Given the description of an element on the screen output the (x, y) to click on. 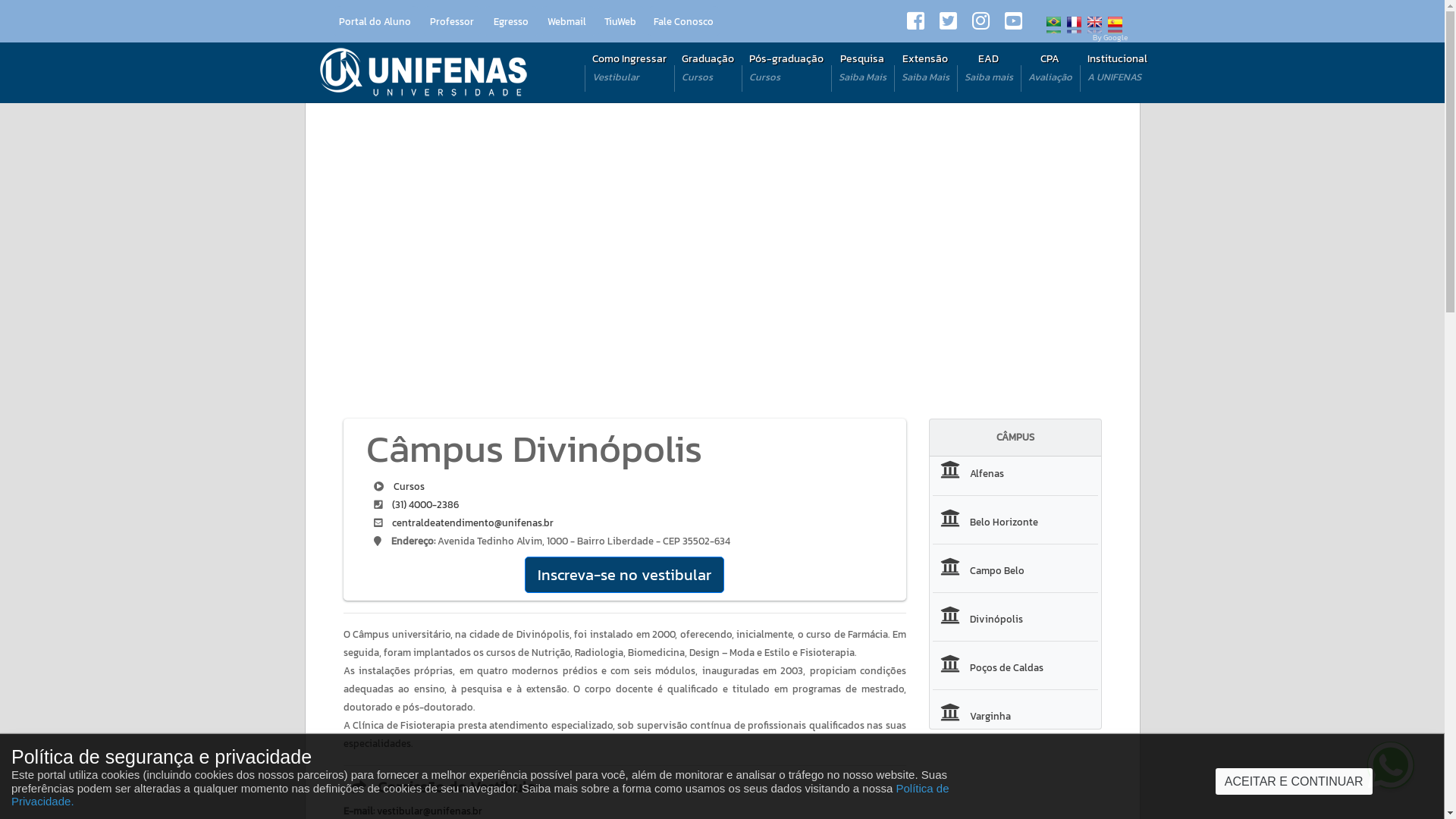
Portal do Aluno Element type: text (375, 20)
Cursos Element type: text (407, 486)
Alfenas Element type: text (968, 473)
Campo Belo Element type: text (978, 570)
Egresso Element type: text (509, 20)
Fale Conosco Element type: text (683, 20)
Next Element type: text (1063, 254)
Previous Element type: text (380, 254)
ACEITAR E CONTINUAR Element type: text (1293, 781)
Inscreva-se no vestibular Element type: text (624, 574)
centraldeatendimento@unifenas.br Element type: text (471, 522)
Como Ingressar
Vestibular Element type: text (628, 64)
vestibular@unifenas.br Element type: text (428, 810)
(31) 4000-2386 Element type: text (424, 504)
Webmail Element type: text (567, 20)
Pesquisa
Saiba Mais Element type: text (862, 64)
Institucional
A UNIFENAS Element type: text (1116, 64)
Professor Element type: text (451, 20)
Belo Horizonte Element type: text (985, 521)
Varginha Element type: text (971, 716)
EAD
Saiba mais Element type: text (988, 64)
TiuWeb Element type: text (620, 20)
